Given the description of an element on the screen output the (x, y) to click on. 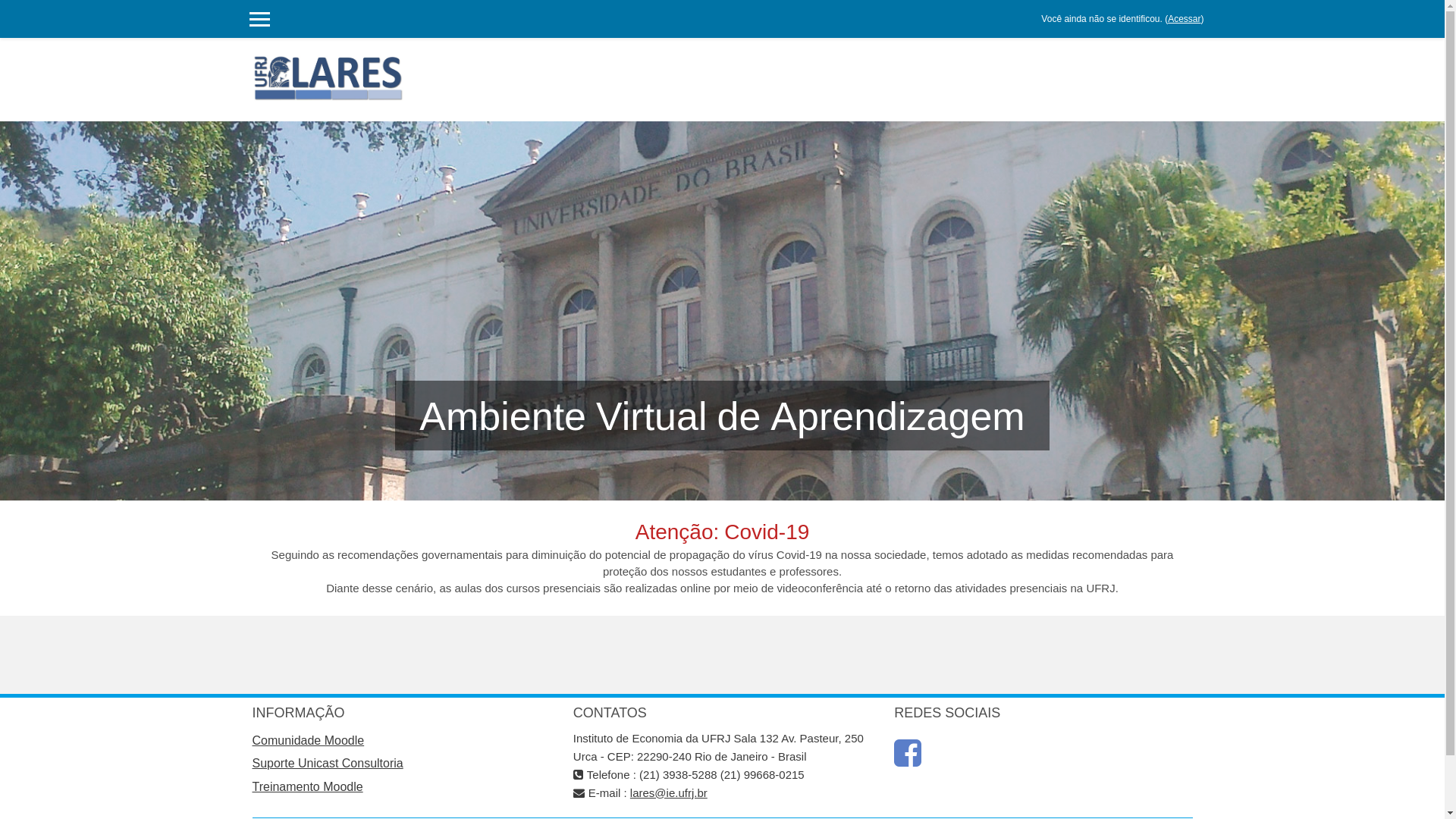
Comunidade Moodle Element type: text (307, 740)
PAINEL LATERAL Element type: text (260, 18)
Suporte Unicast Consultoria Element type: text (326, 763)
lares@ie.ufrj.br Element type: text (668, 792)
Acessar Element type: text (1183, 18)
Treinamento Moodle Element type: text (306, 786)
